Given the description of an element on the screen output the (x, y) to click on. 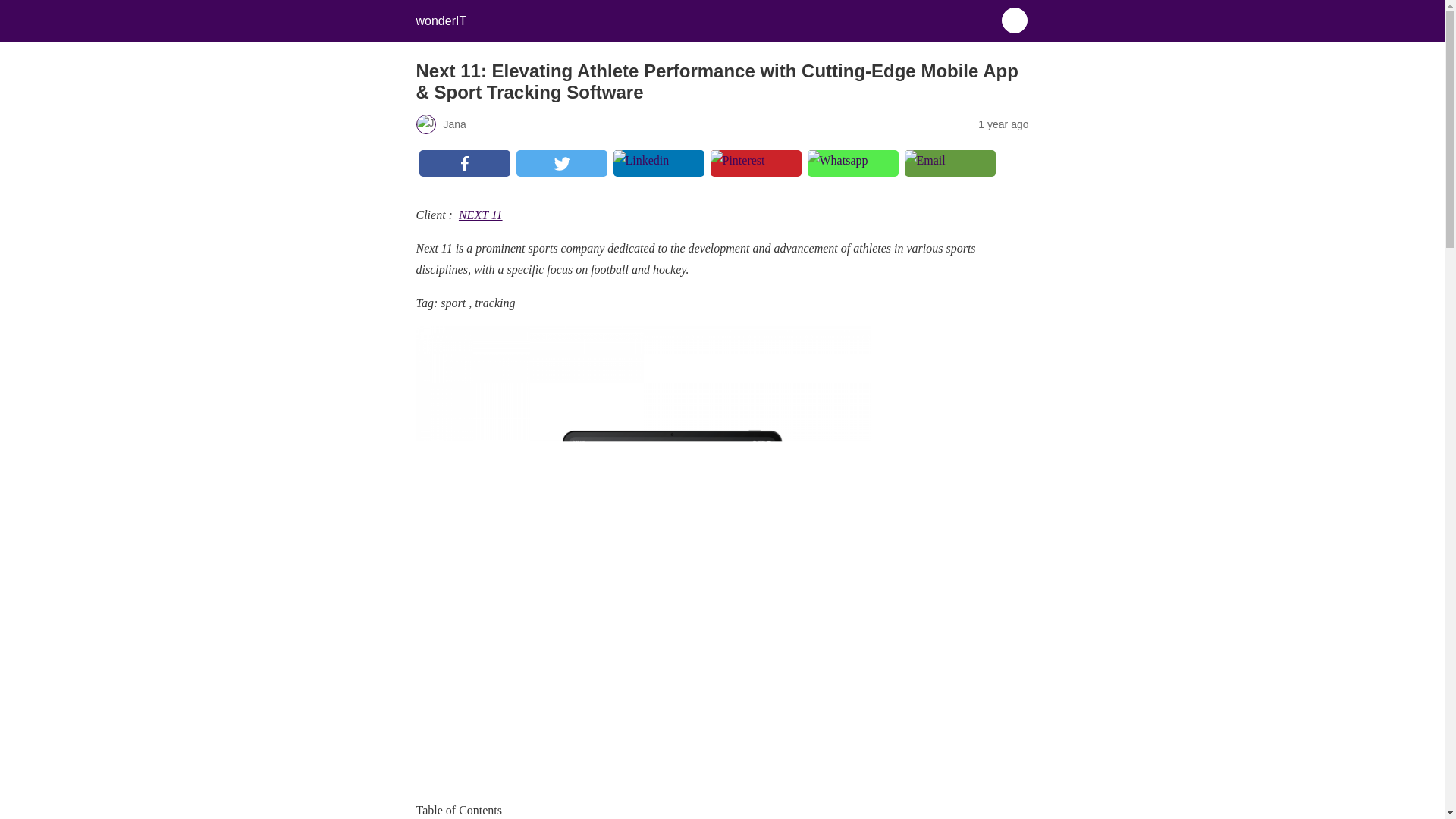
Linkedin (658, 172)
Pinterest (754, 172)
Whatsapp (852, 172)
Email (949, 172)
wonderIT (439, 20)
Facebook (463, 172)
Twitter (561, 172)
NEXT 11 (480, 214)
